Given the description of an element on the screen output the (x, y) to click on. 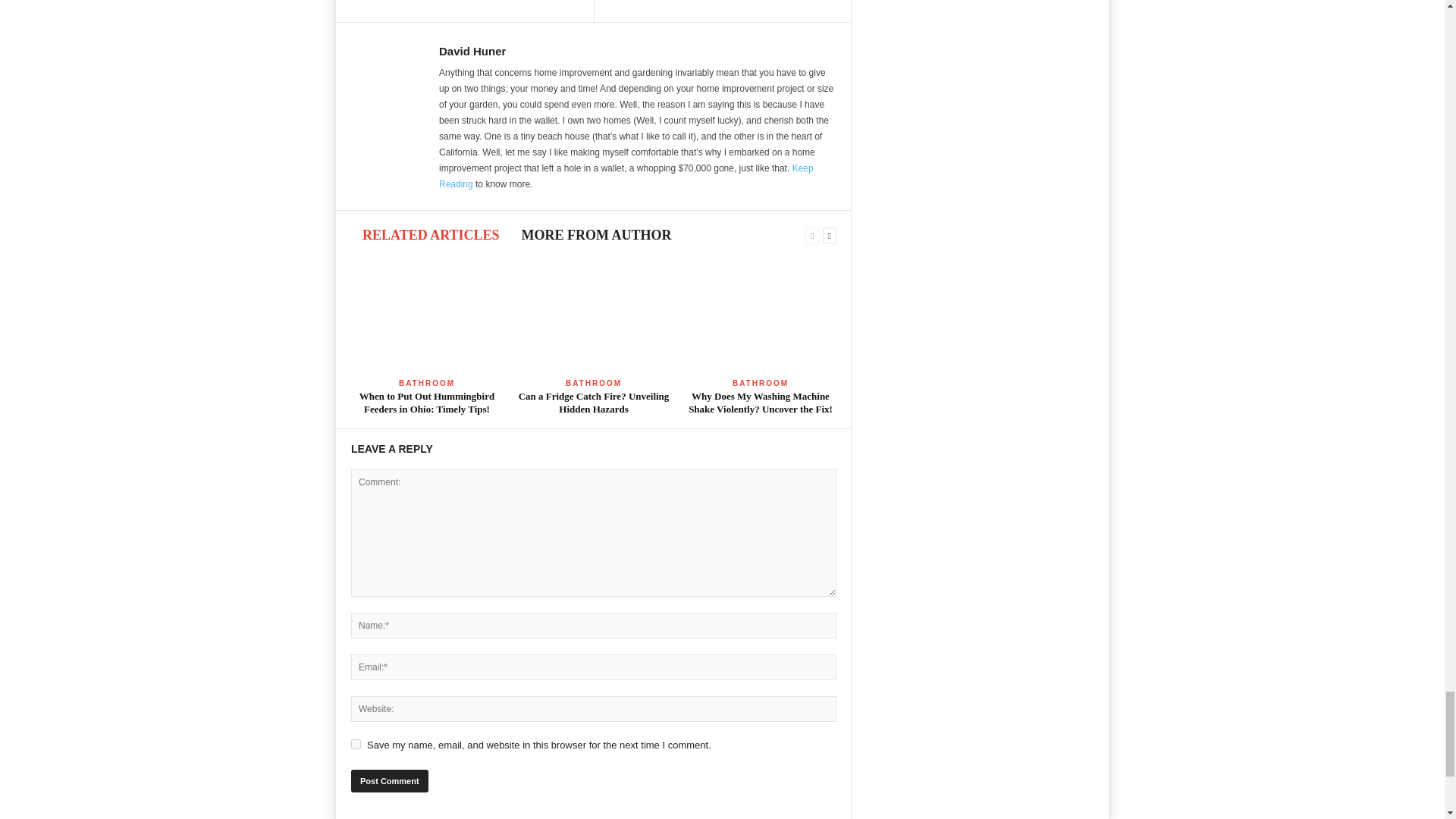
Post Comment (389, 780)
yes (355, 744)
